Given the description of an element on the screen output the (x, y) to click on. 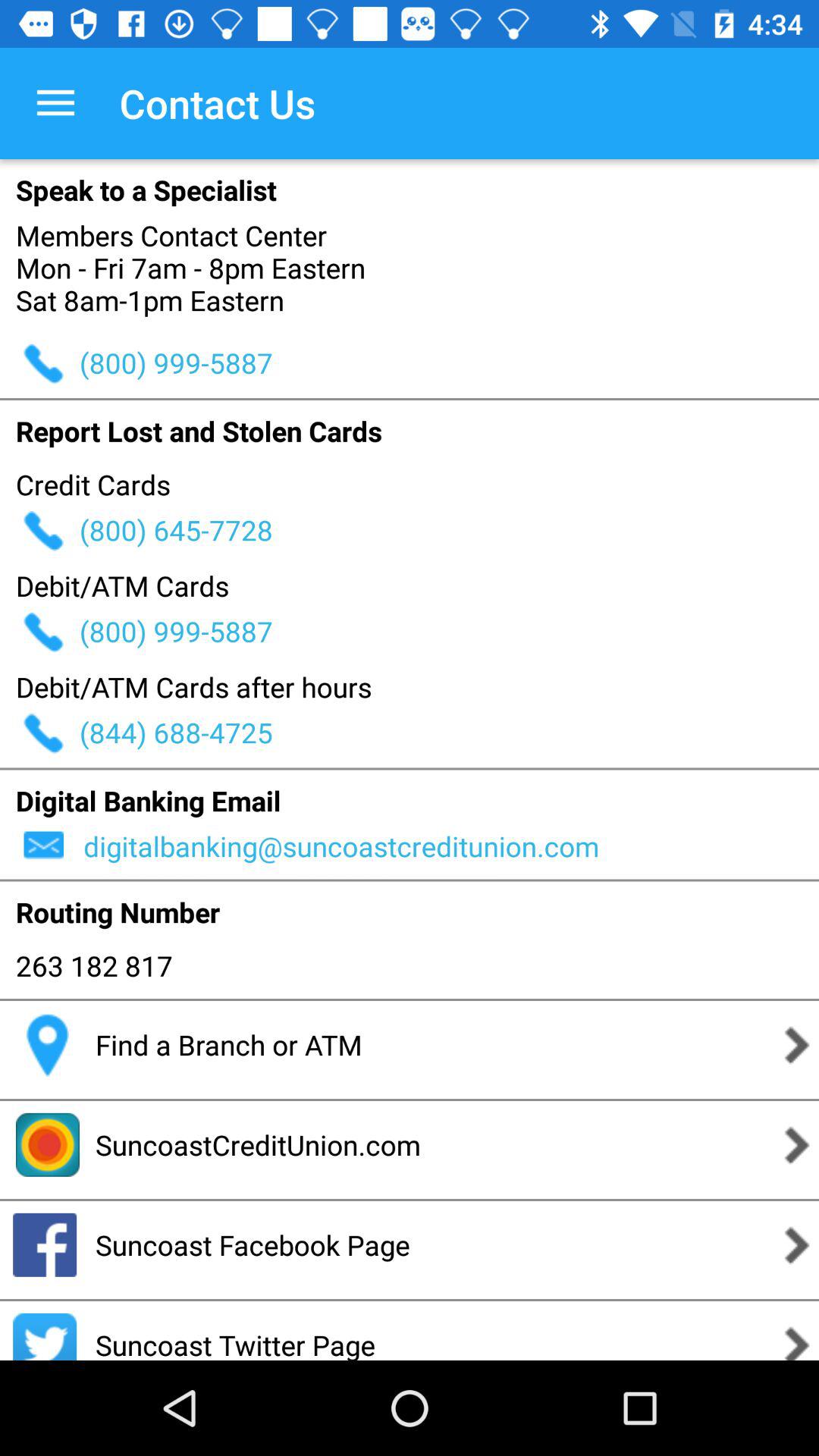
select item to the left of contact us item (55, 103)
